Given the description of an element on the screen output the (x, y) to click on. 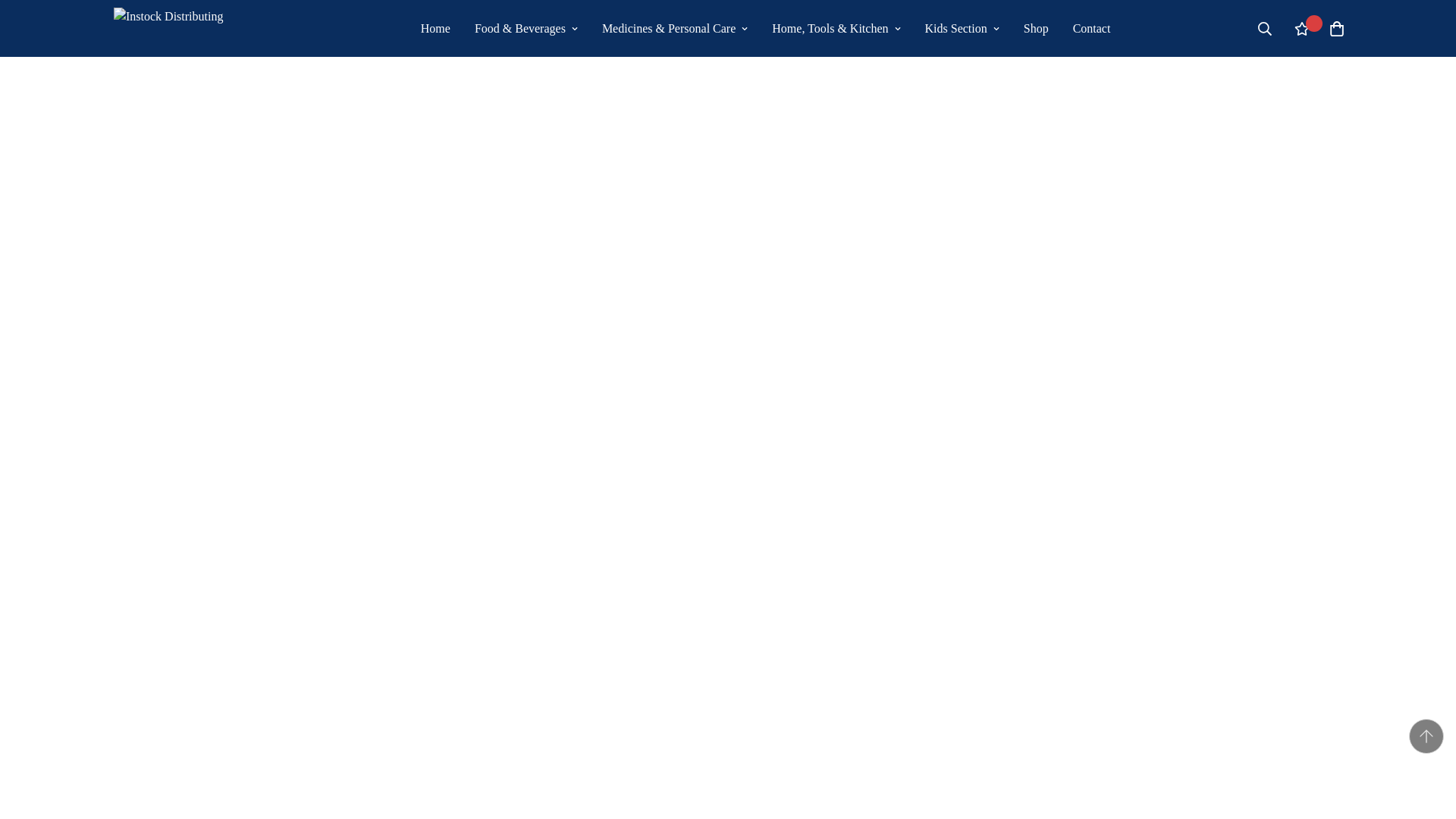
Shop (1036, 28)
Kids Section (961, 28)
Contact (1091, 28)
Back to the home page (456, 21)
Instock Distributing (197, 28)
Home (436, 28)
